Given the description of an element on the screen output the (x, y) to click on. 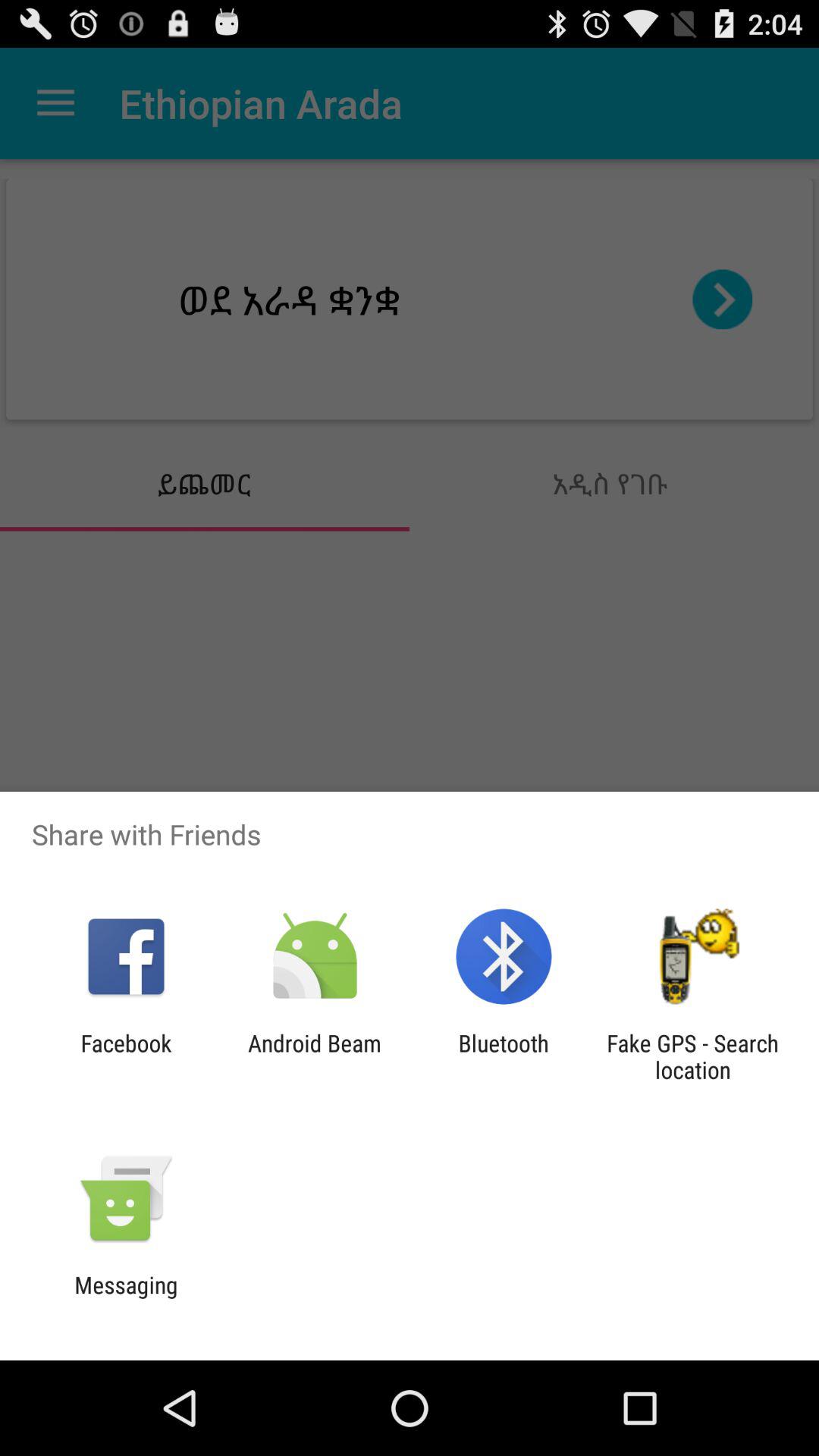
click the app next to the bluetooth icon (692, 1056)
